Given the description of an element on the screen output the (x, y) to click on. 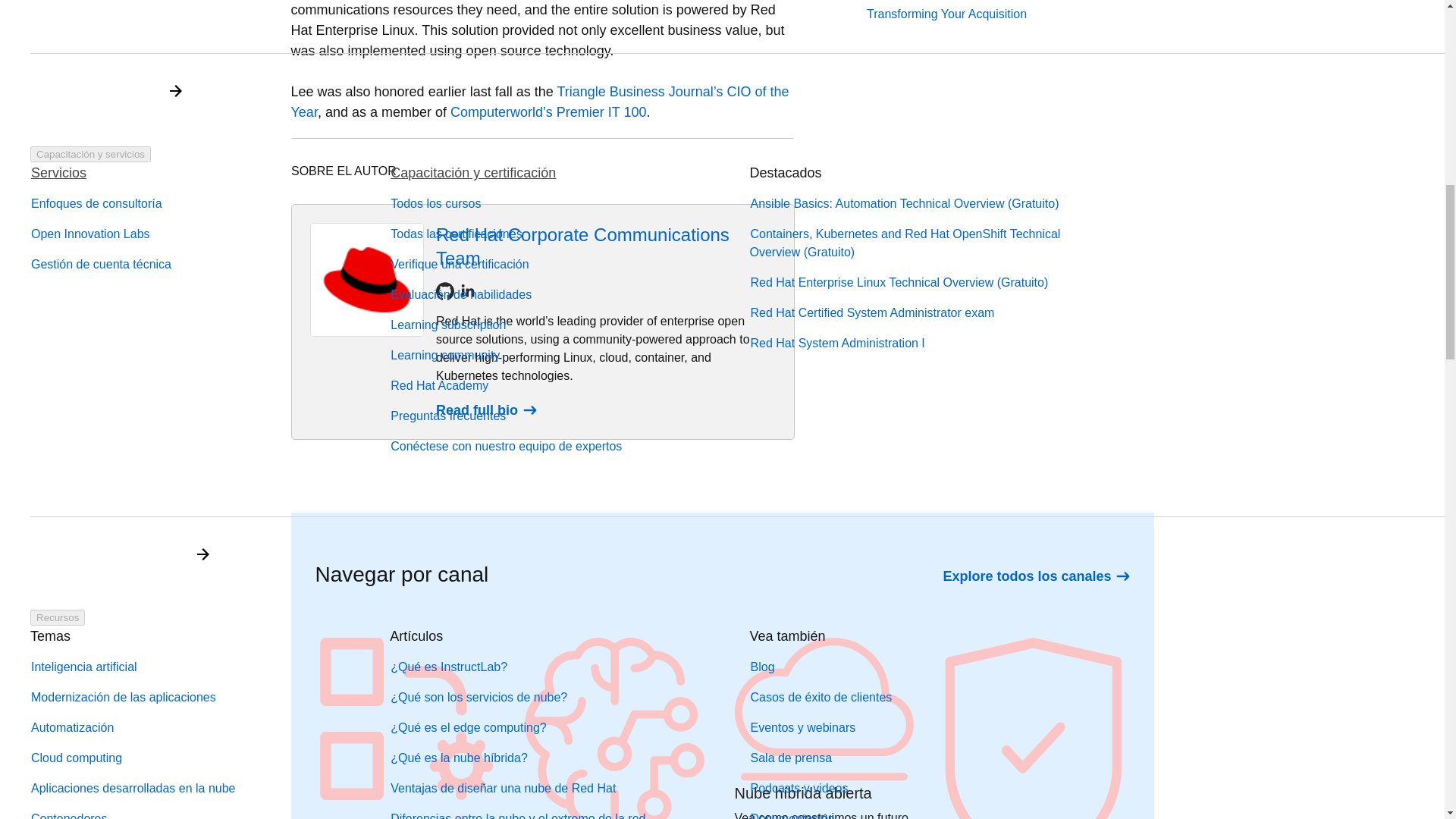
Follow Red Hat Corporate Communications Team on Github (443, 290)
Follow Red Hat Corporate Communications Team LinkedIn (467, 290)
